Given the description of an element on the screen output the (x, y) to click on. 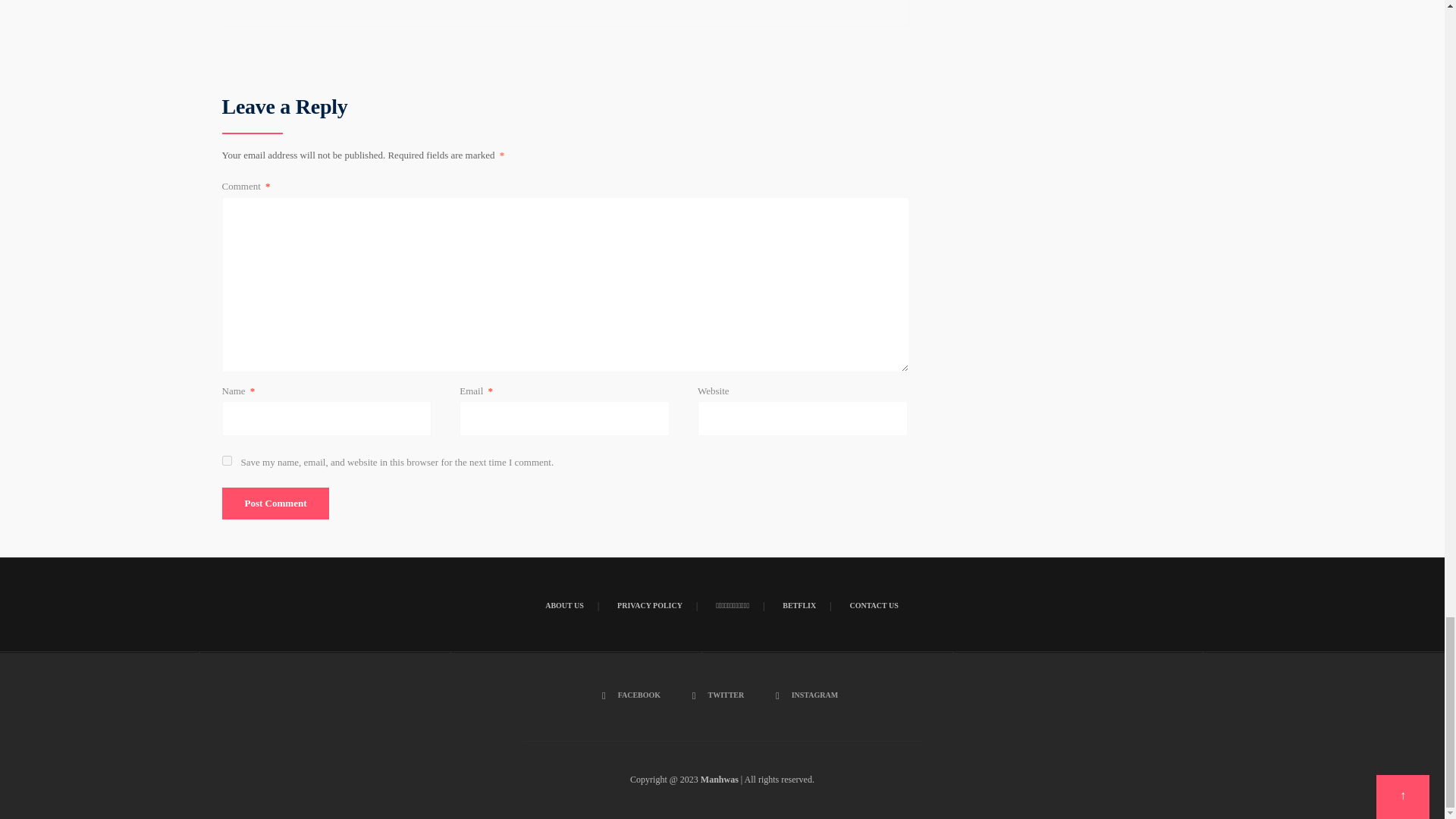
yes (226, 460)
Post Comment (275, 503)
Post Comment (275, 503)
